Given the description of an element on the screen output the (x, y) to click on. 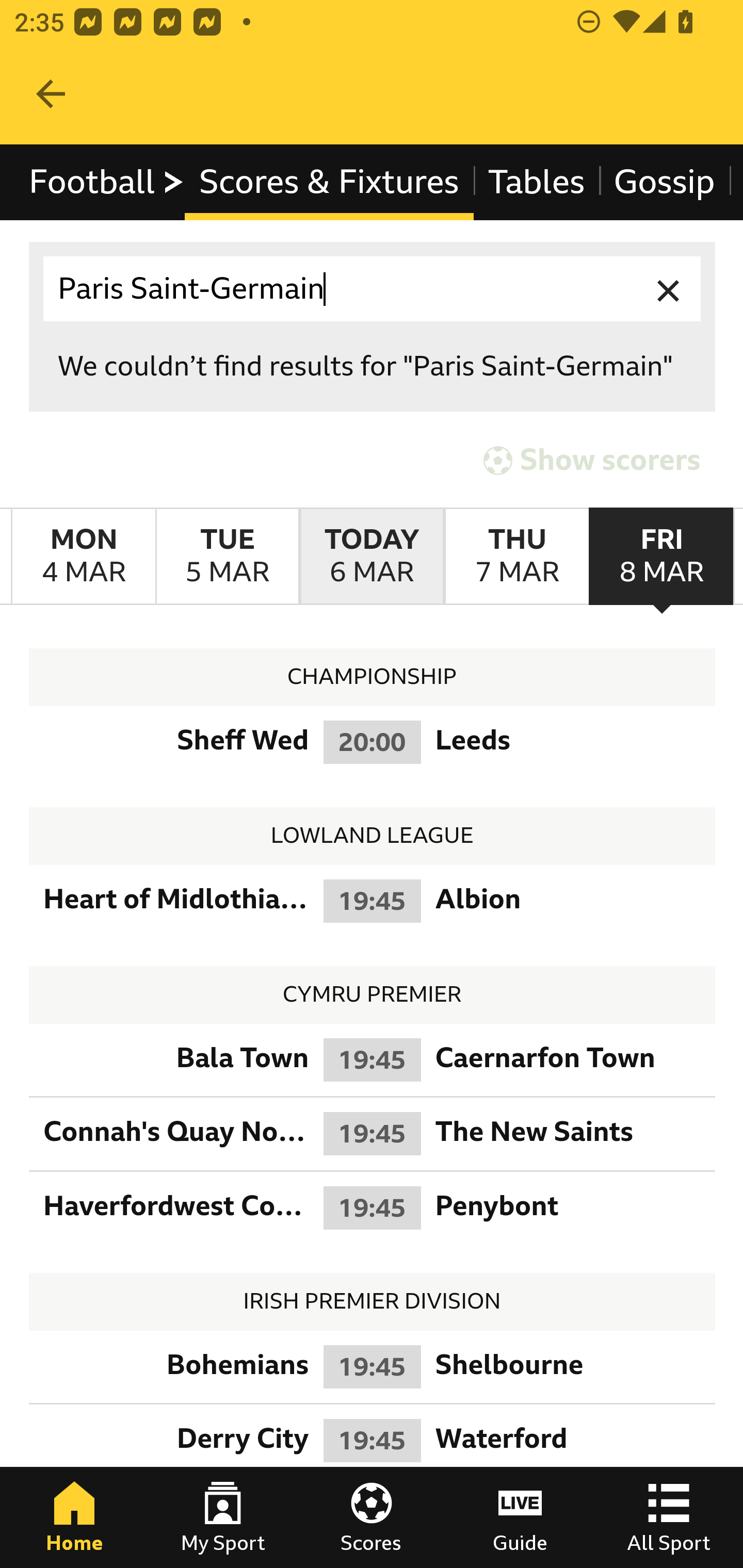
Navigate up (50, 93)
Football  (106, 181)
Scores & Fixtures (329, 181)
Tables (536, 181)
Gossip (664, 181)
Paris Saint-Germain (372, 289)
Clear input (669, 289)
Show scorers (591, 459)
MondayMarch 4th Monday March 4th (83, 557)
TuesdayMarch 5th Tuesday March 5th (227, 557)
TodayMarch 6th Today March 6th (371, 557)
ThursdayMarch 7th Thursday March 7th (516, 557)
FridayMarch 8th, Selected Friday March 8th (661, 557)
My Sport (222, 1517)
Scores (371, 1517)
Guide (519, 1517)
All Sport (668, 1517)
